Given the description of an element on the screen output the (x, y) to click on. 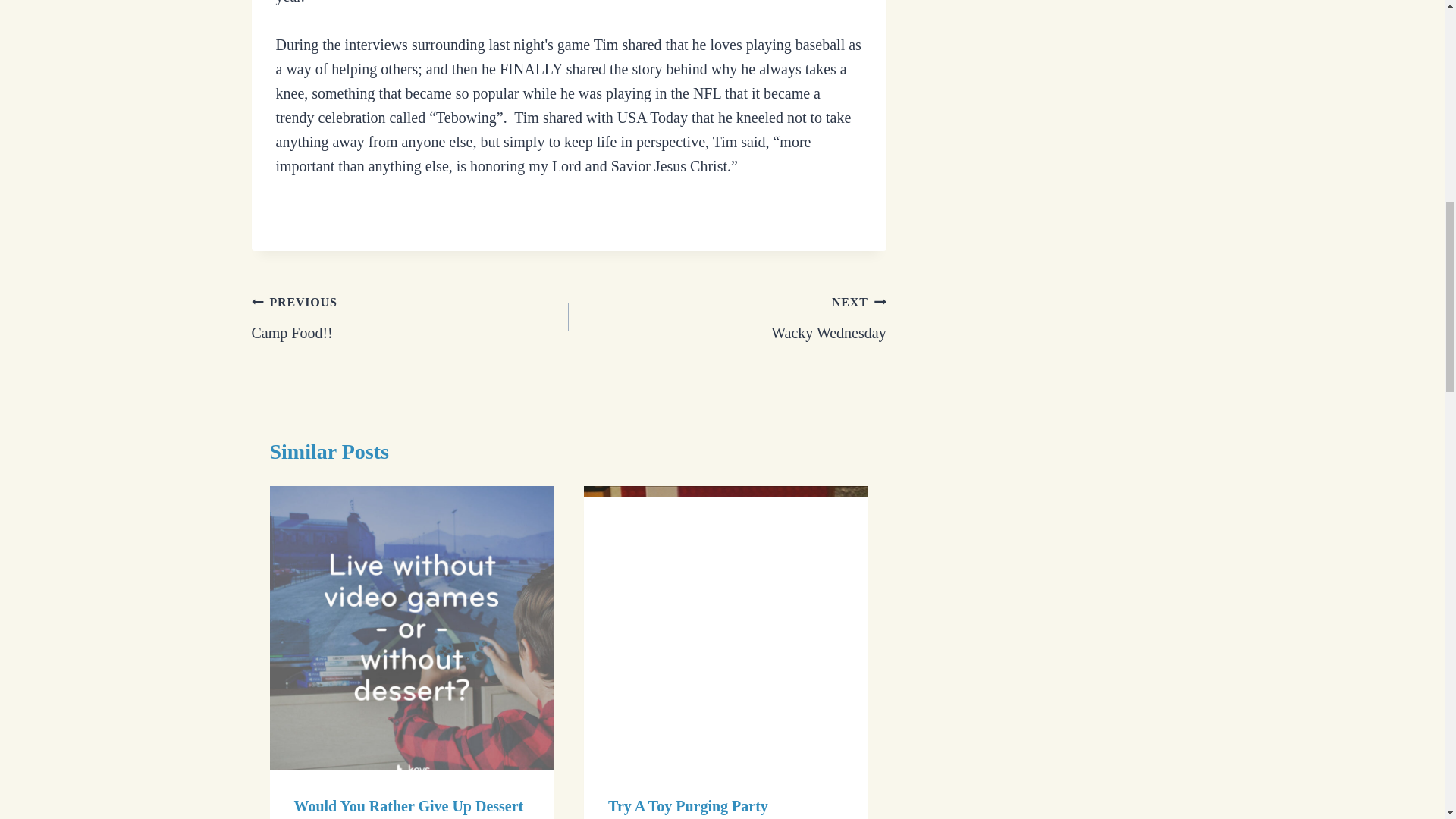
Try A Toy Purging Party (688, 805)
Would You Rather Give Up Dessert or Video Games? (727, 316)
